Given the description of an element on the screen output the (x, y) to click on. 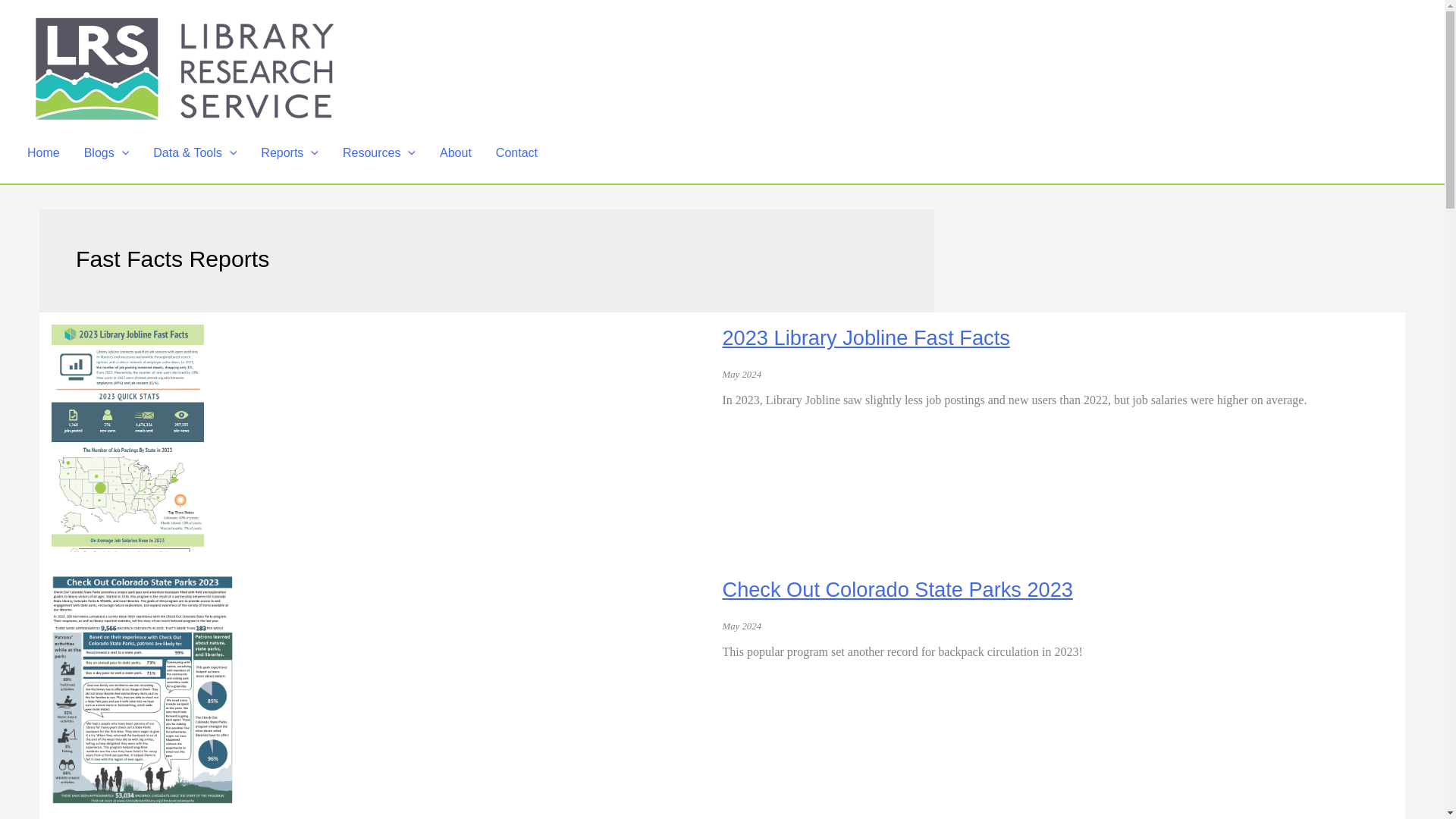
Blogs (106, 152)
Reports (289, 152)
Home (42, 152)
